Given the description of an element on the screen output the (x, y) to click on. 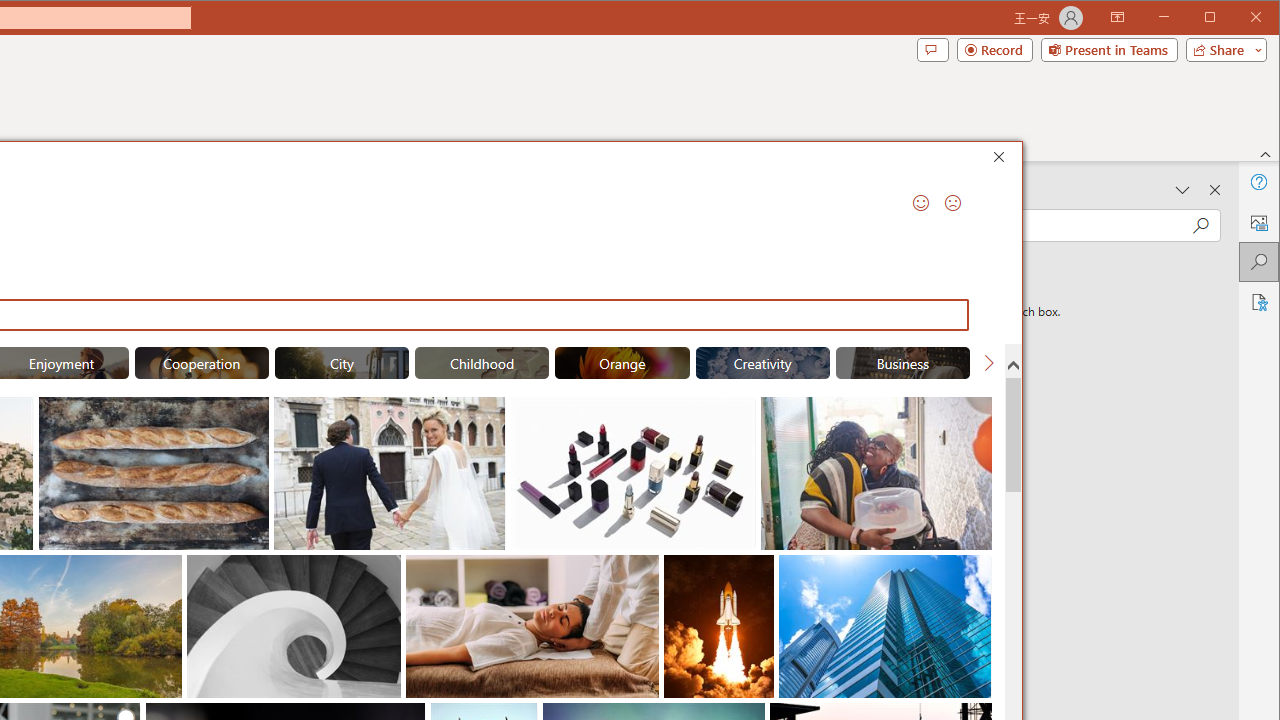
Send a Frown (952, 202)
